Given the description of an element on the screen output the (x, y) to click on. 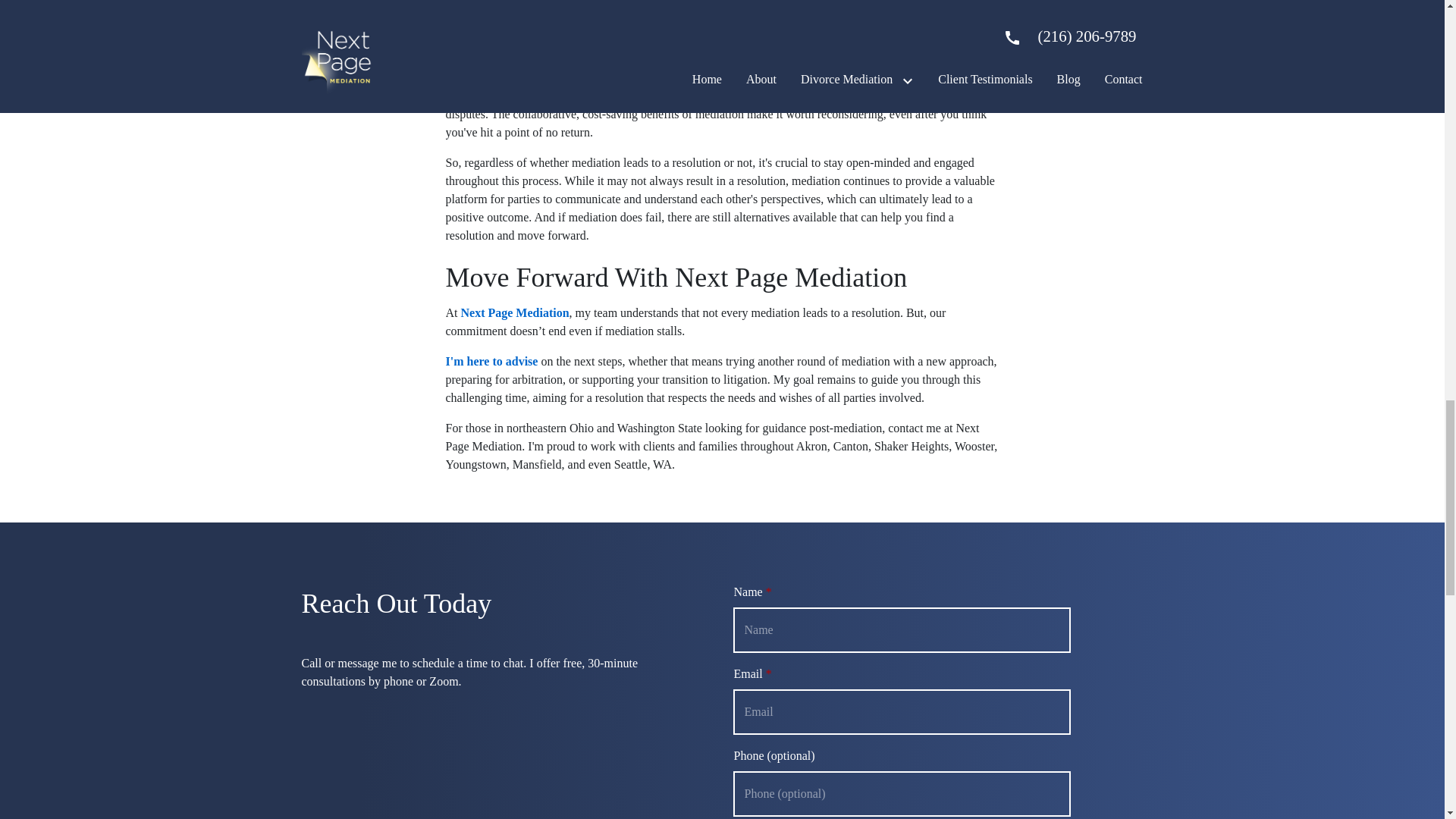
I'm here to advise (491, 360)
Next Page Mediation (513, 312)
